Given the description of an element on the screen output the (x, y) to click on. 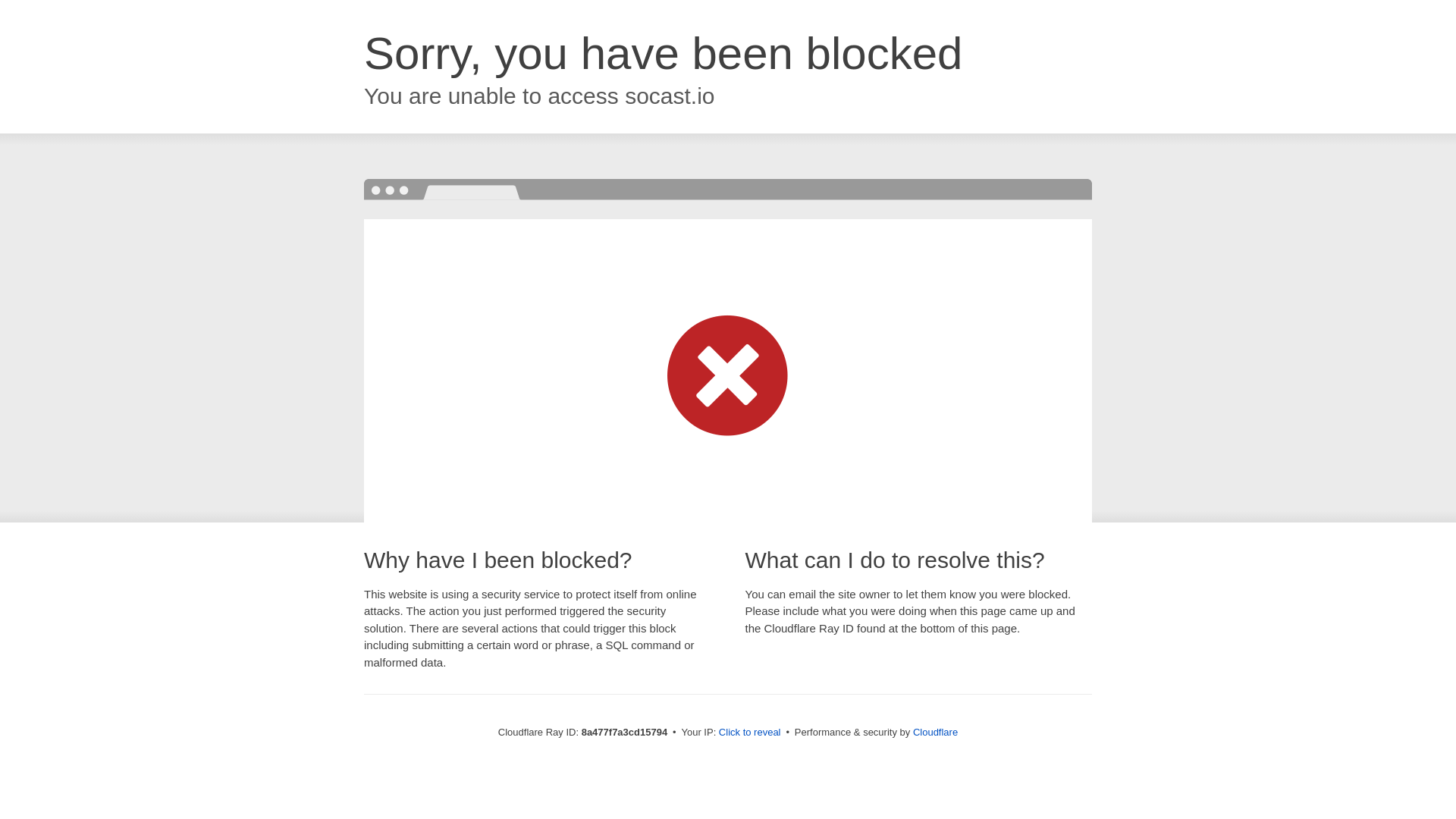
Cloudflare (935, 731)
Click to reveal (749, 732)
